Given the description of an element on the screen output the (x, y) to click on. 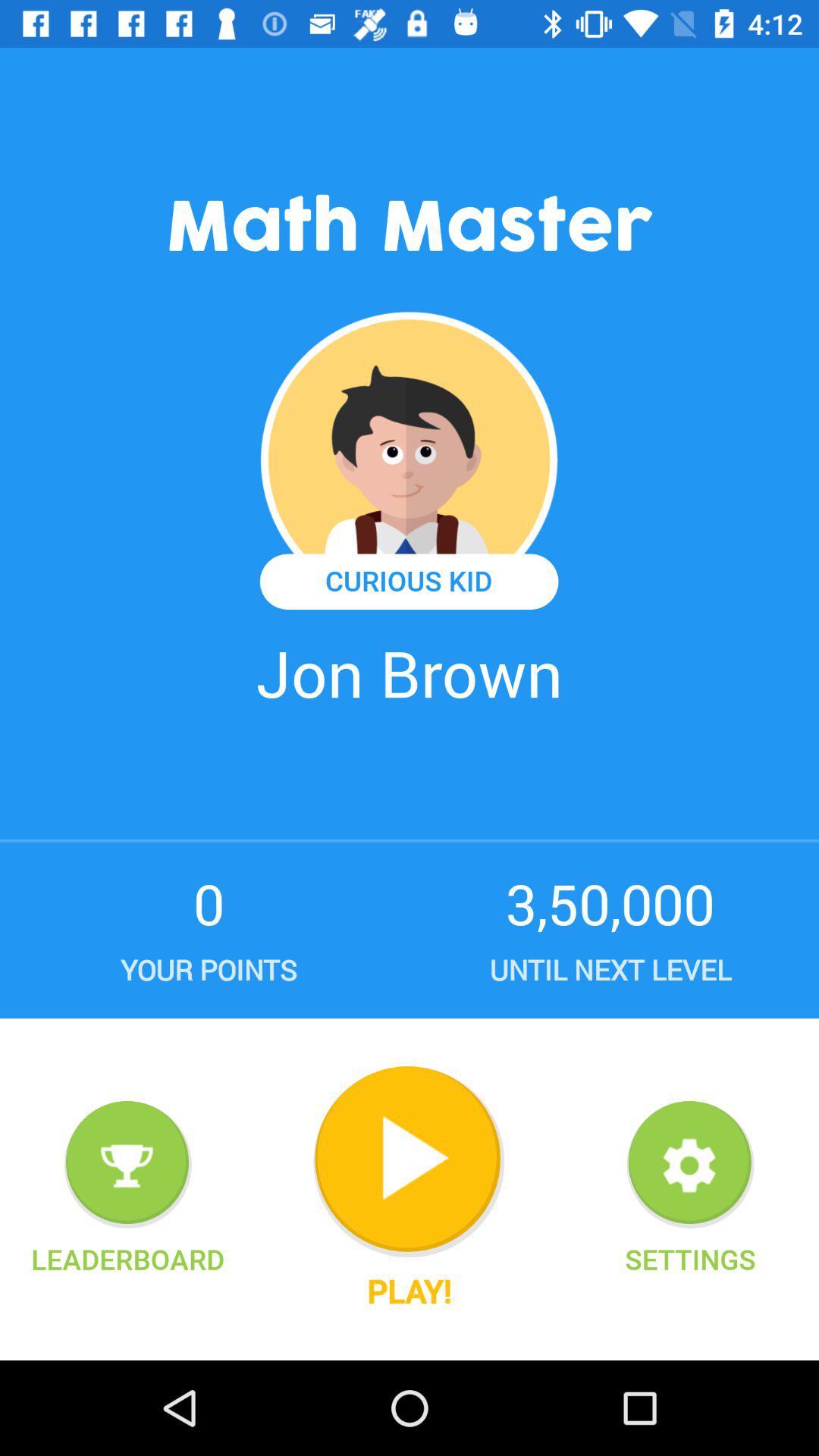
launch the item next to leaderboard item (408, 1161)
